Given the description of an element on the screen output the (x, y) to click on. 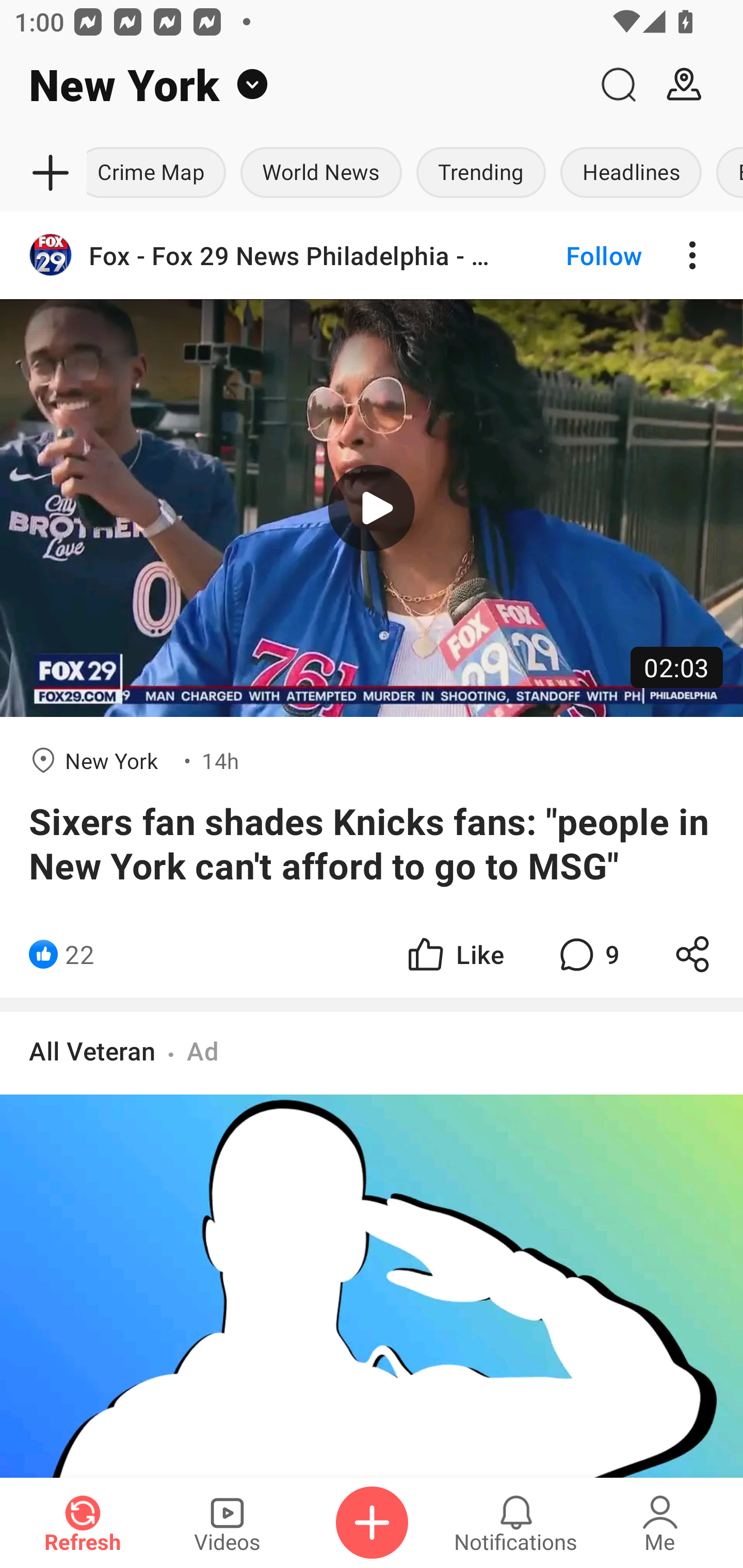
New York (292, 84)
Crime Map (159, 172)
World News (321, 172)
Trending (480, 172)
Headlines (630, 172)
Fox - Fox 29 News Philadelphia - TV Follow (371, 255)
Follow (569, 255)
22 (79, 954)
Like (454, 954)
9 (587, 954)
All Veteran (92, 1050)
Videos (227, 1522)
Notifications (516, 1522)
Me (659, 1522)
